Given the description of an element on the screen output the (x, y) to click on. 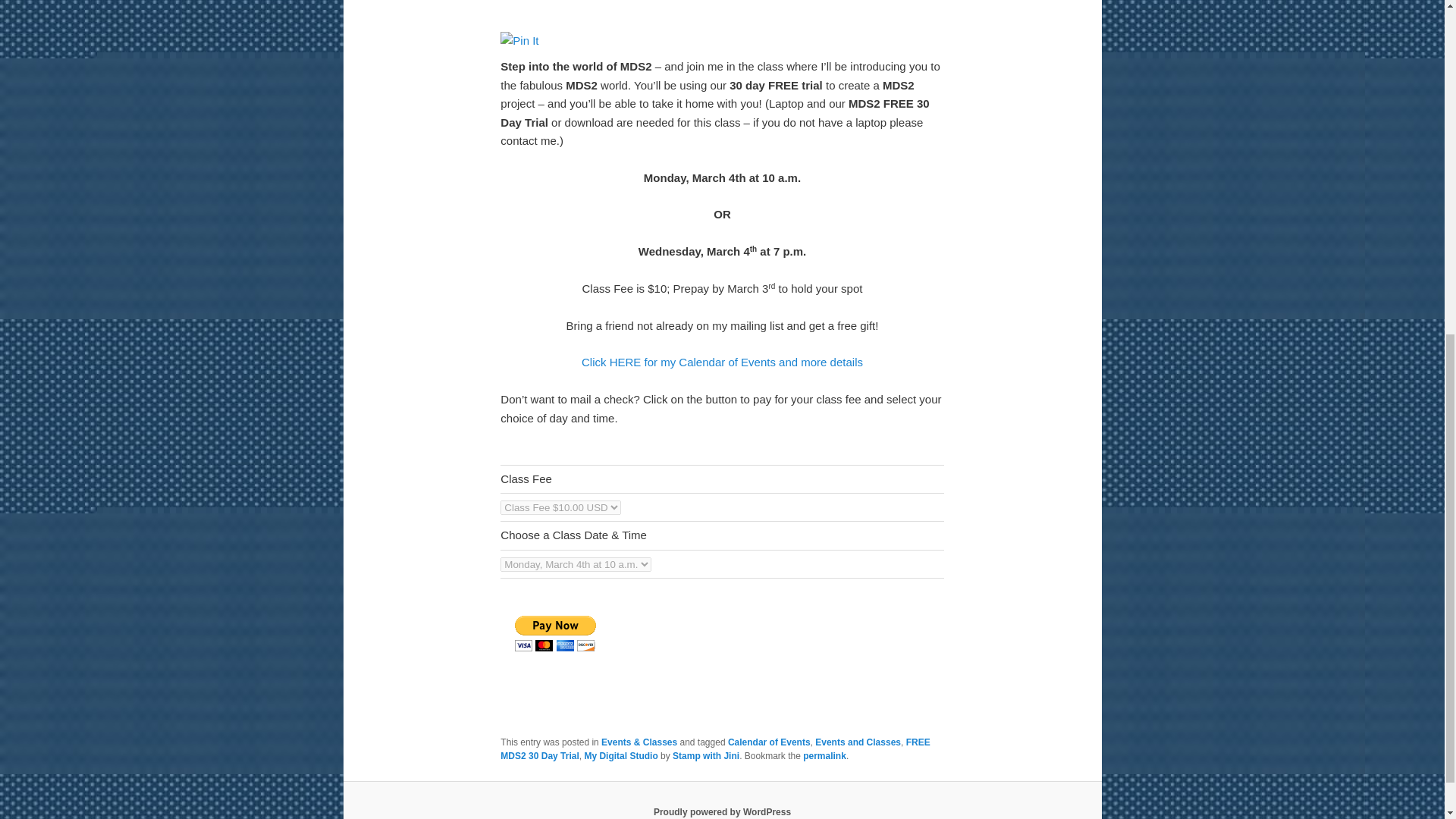
Permalink to Introduction to MDS2 Class Offered! (824, 756)
permalink (824, 756)
Pin It (519, 40)
Calendar of Events (769, 742)
Stamp with Jini (705, 756)
FREE MDS2 30 Day Trial (715, 749)
Click HERE for my Calendar of Events and more details (721, 361)
My Digital Studio (620, 756)
Events and Classes (858, 742)
Semantic Personal Publishing Platform (721, 811)
